Given the description of an element on the screen output the (x, y) to click on. 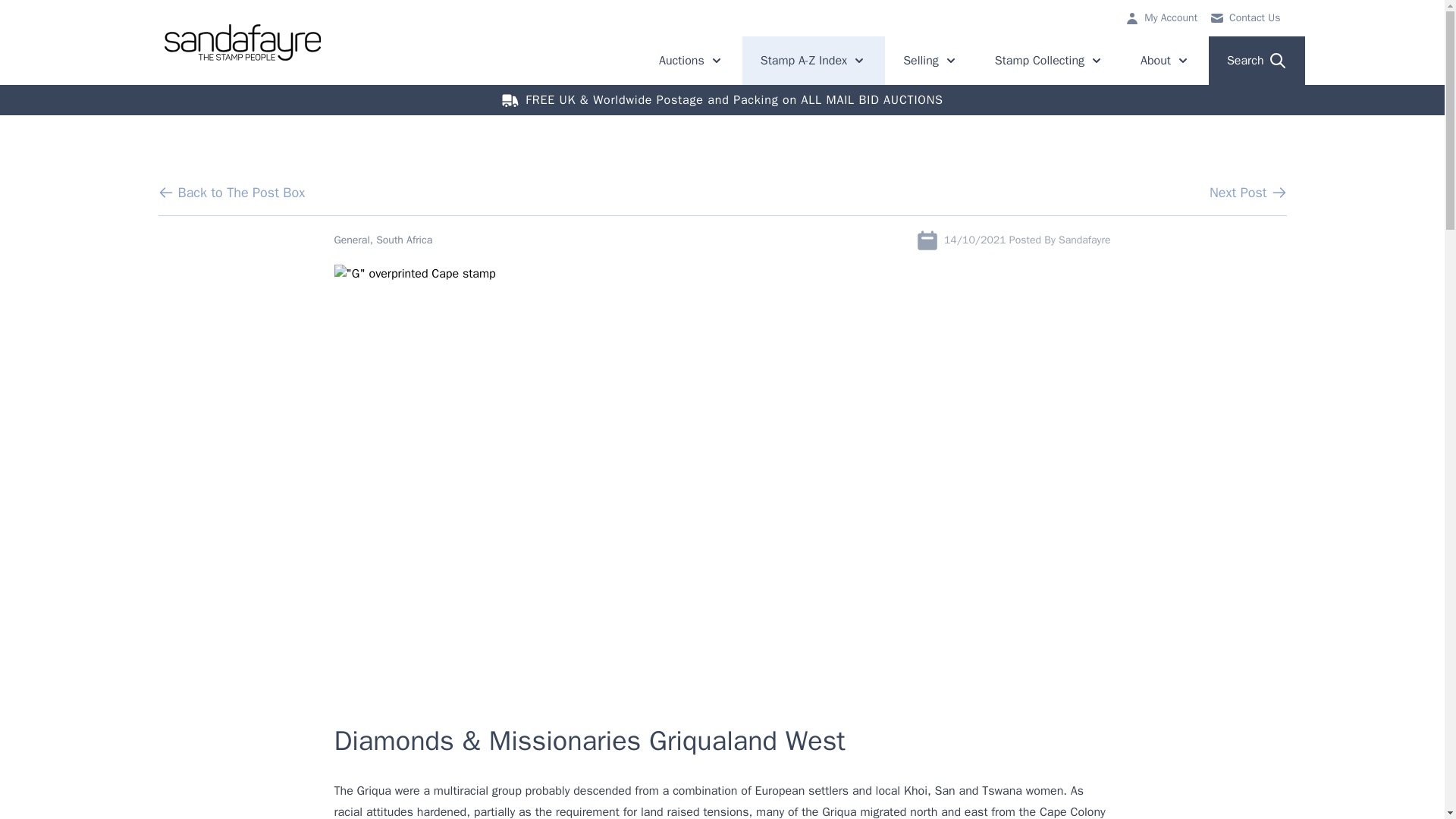
Auctions (691, 60)
Search (1256, 60)
Back to The Post Box (230, 192)
My Account (1160, 17)
Selling (930, 60)
Stamp A-Z Index (813, 60)
Stamp Collecting (1049, 60)
Contact Us (960, 18)
About (1244, 17)
